Given the description of an element on the screen output the (x, y) to click on. 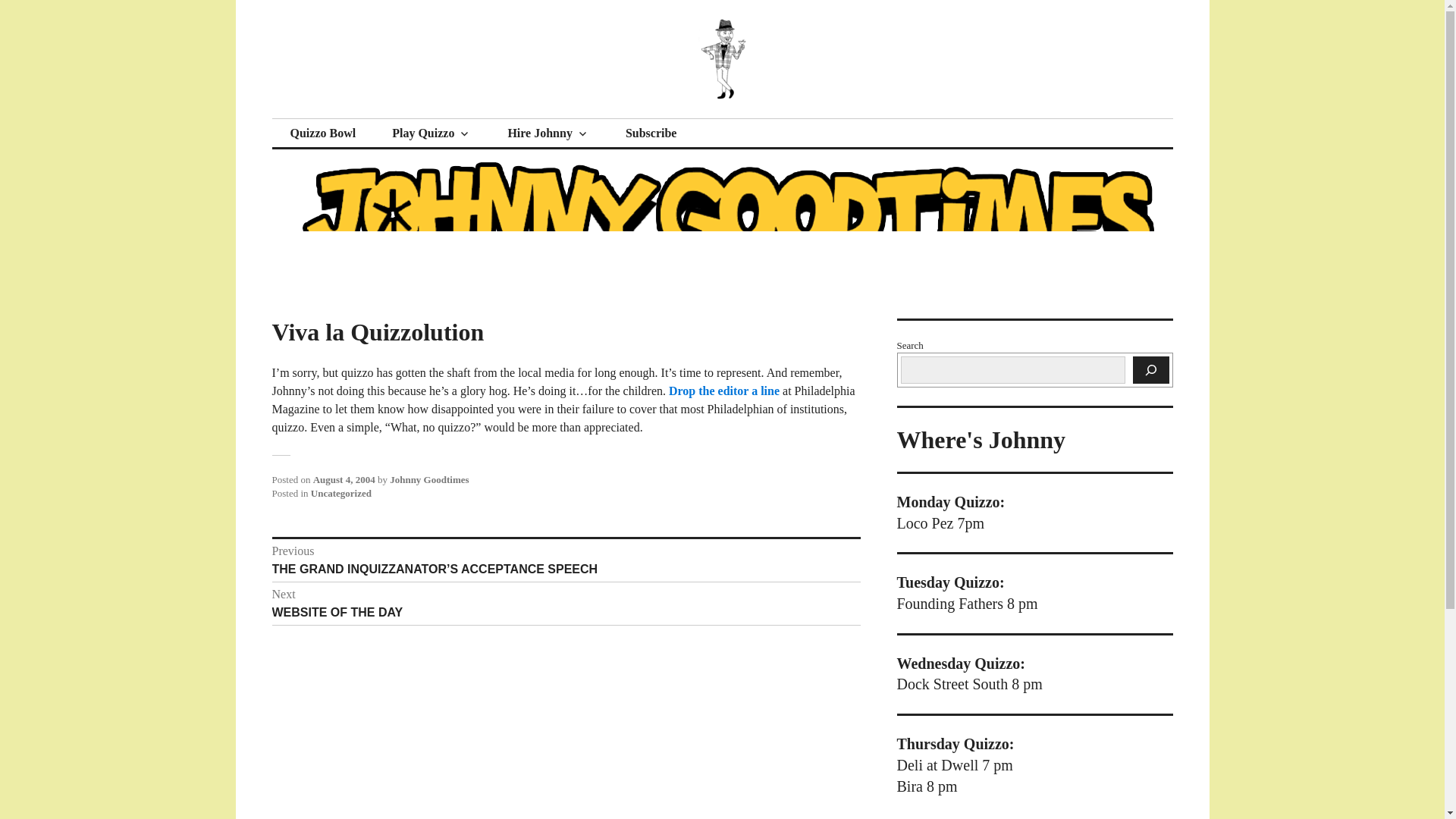
Johnny Goodtimes (429, 479)
Johnny Goodtimes (565, 603)
Subscribe (392, 117)
Hire Johnny (651, 133)
Drop the editor a line (548, 133)
Uncategorized (725, 390)
August 4, 2004 (341, 492)
Play Quizzo (344, 479)
Quizzo Bowl (431, 133)
